Given the description of an element on the screen output the (x, y) to click on. 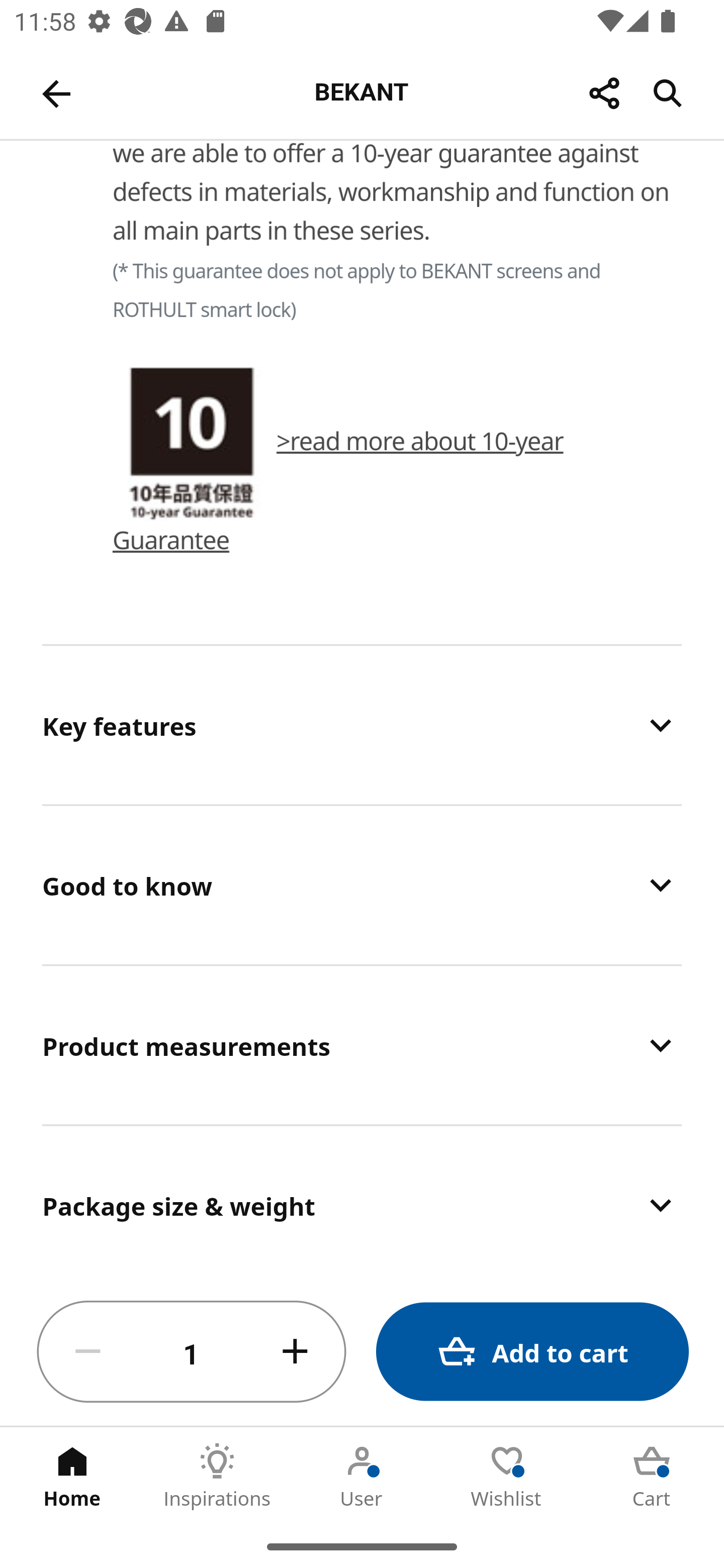
bekant-galant-hallen-guarantee (191, 404)
>read more about 10-year Guarantee (466, 402)
Key features (361, 724)
Good to know (361, 884)
Product measurements (361, 1044)
Package size & weight (361, 1202)
Add to cart (531, 1352)
1 (191, 1352)
Home
Tab 1 of 5 (72, 1476)
Inspirations
Tab 2 of 5 (216, 1476)
User
Tab 3 of 5 (361, 1476)
Wishlist
Tab 4 of 5 (506, 1476)
Cart
Tab 5 of 5 (651, 1476)
